Given the description of an element on the screen output the (x, y) to click on. 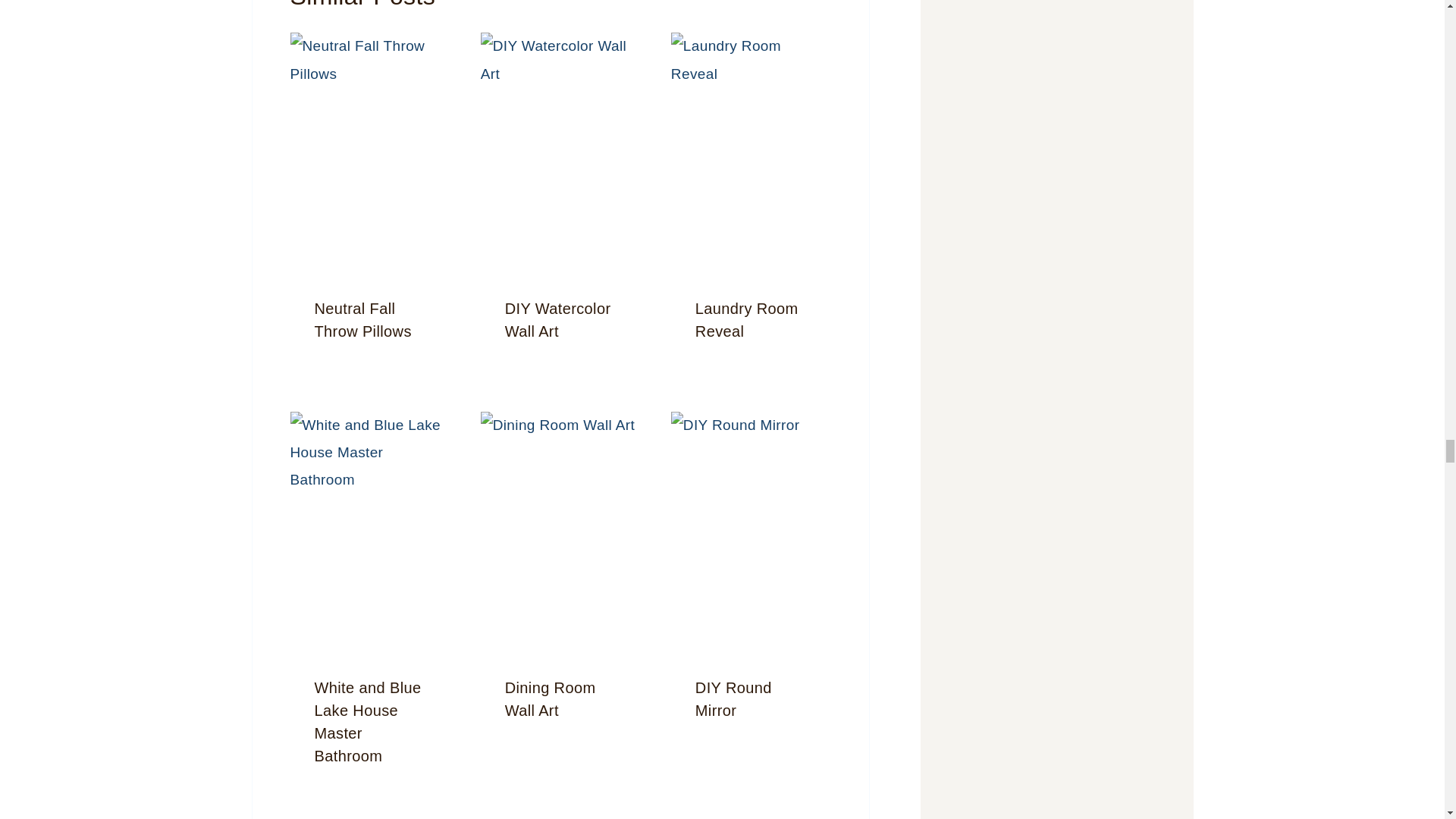
Laundry Room Reveal (746, 319)
DIY Watercolor Wall Art (558, 319)
Neutral Fall Throw Pillows (362, 319)
